Given the description of an element on the screen output the (x, y) to click on. 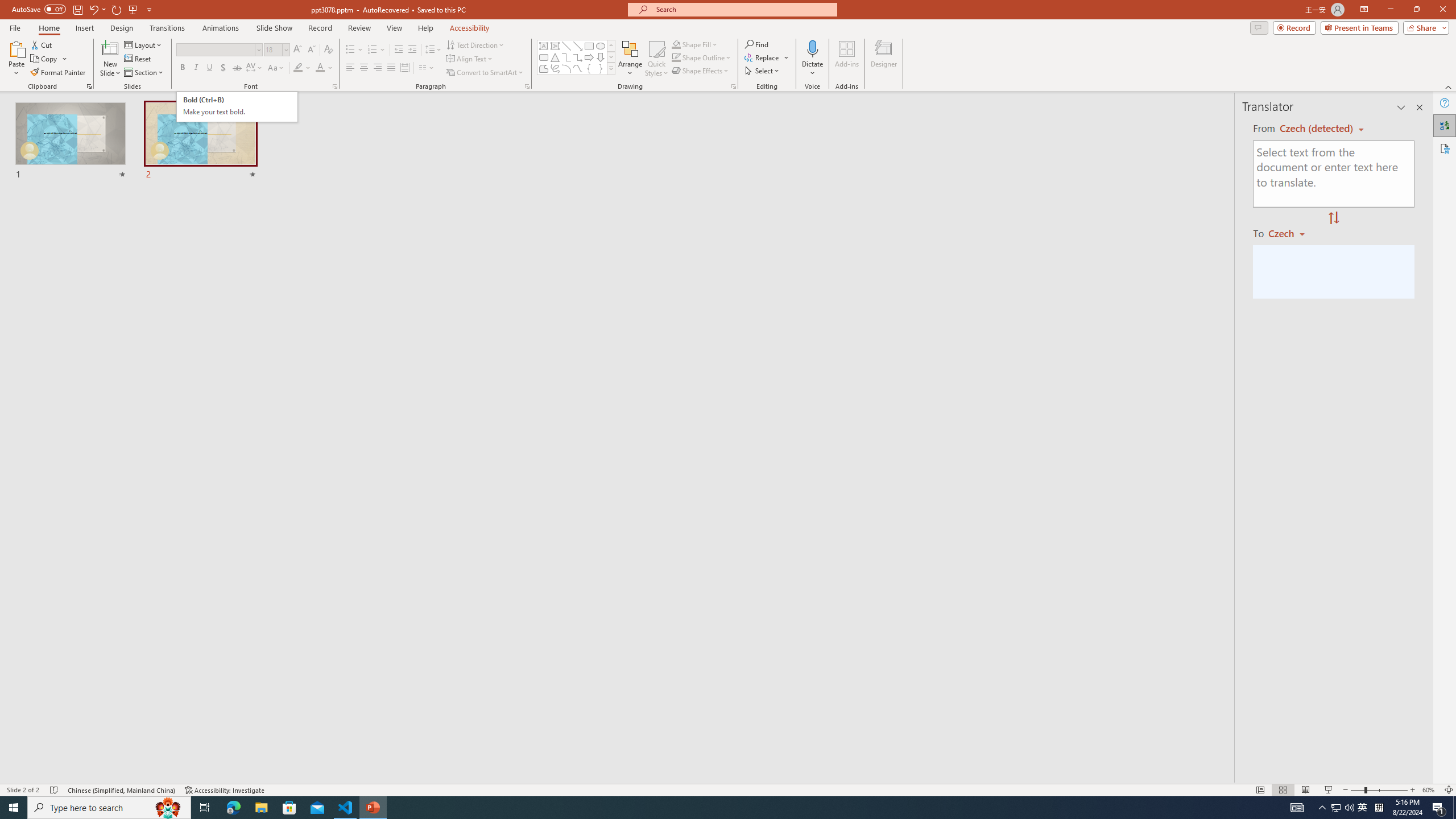
Character Spacing (254, 67)
Oval (600, 45)
Line Spacing (433, 49)
Office Clipboard... (88, 85)
Align Text (470, 58)
Change Case (276, 67)
Strikethrough (237, 67)
Shape Outline (701, 56)
